Given the description of an element on the screen output the (x, y) to click on. 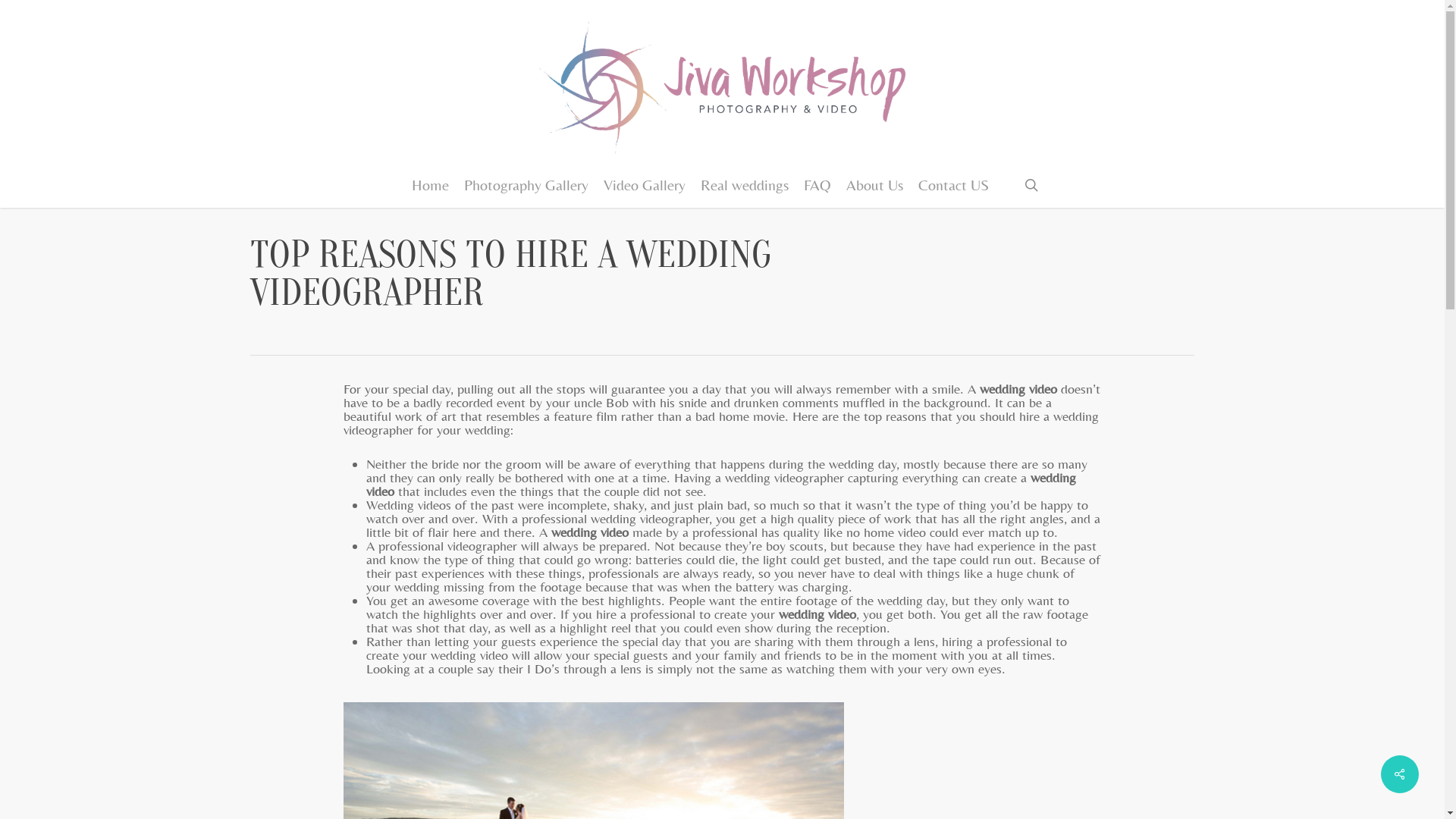
Contact US Element type: text (953, 184)
About Us Element type: text (874, 184)
FAQ Element type: text (817, 184)
Home Element type: text (430, 184)
Real weddings Element type: text (744, 184)
Video Gallery Element type: text (644, 184)
Photography Gallery Element type: text (526, 184)
search Element type: text (1031, 184)
